Given the description of an element on the screen output the (x, y) to click on. 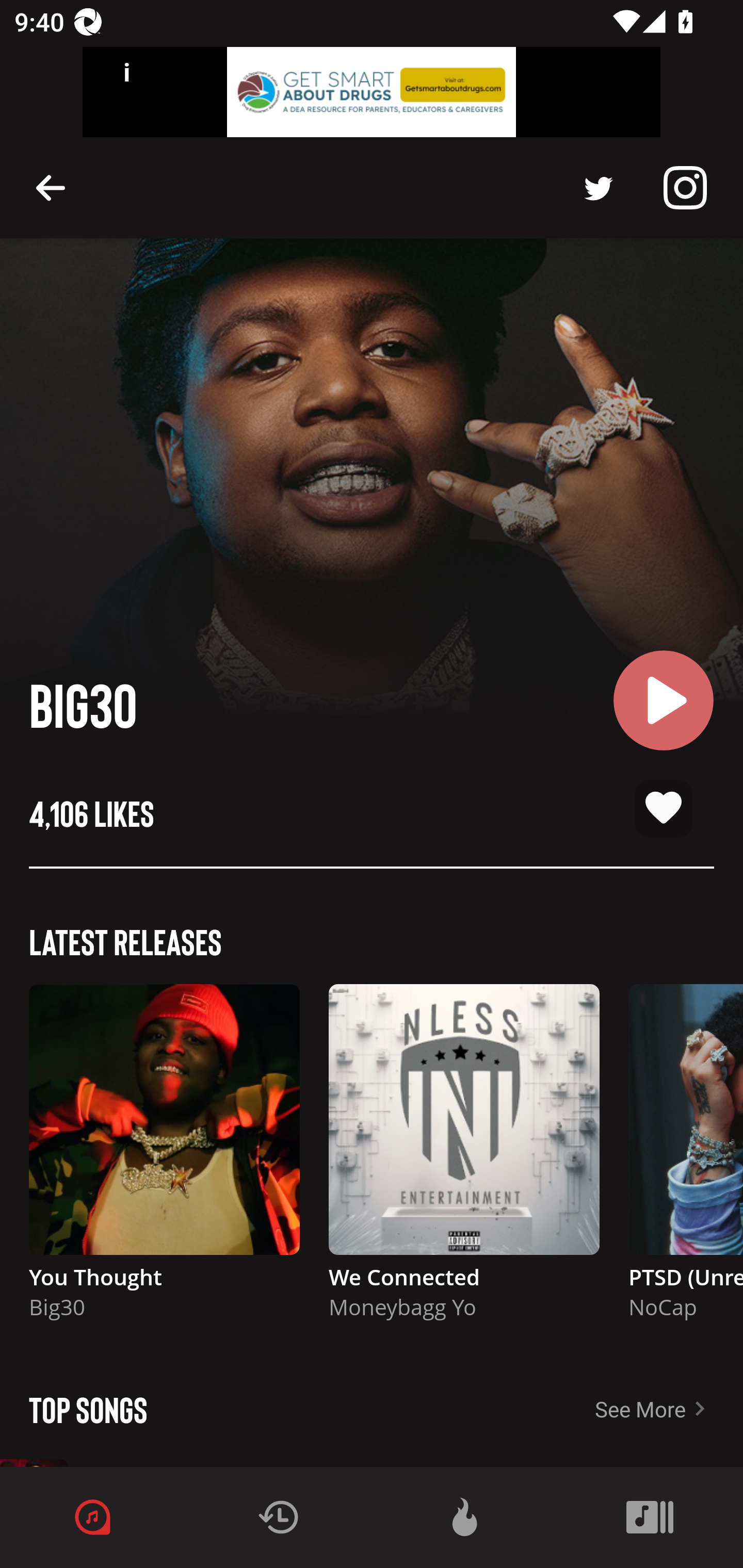
Description (50, 187)
Description (598, 188)
Description (684, 188)
Description You Thought Big30 (164, 1159)
Description We Connected Moneybagg Yo (463, 1159)
See More (668, 1408)
